Given the description of an element on the screen output the (x, y) to click on. 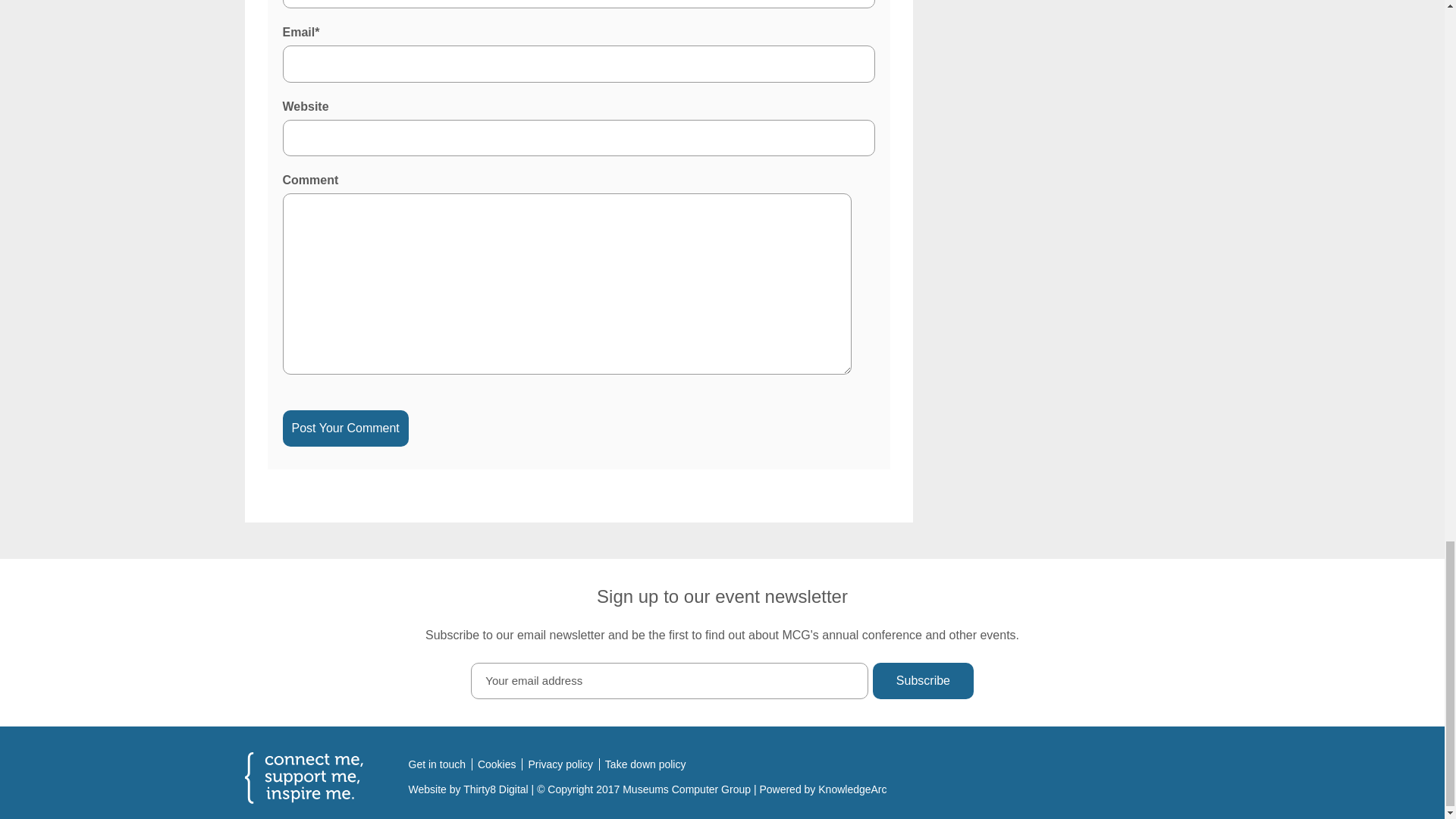
Subscribe (922, 680)
Post Your Comment (344, 428)
Post Your Comment (344, 428)
